Given the description of an element on the screen output the (x, y) to click on. 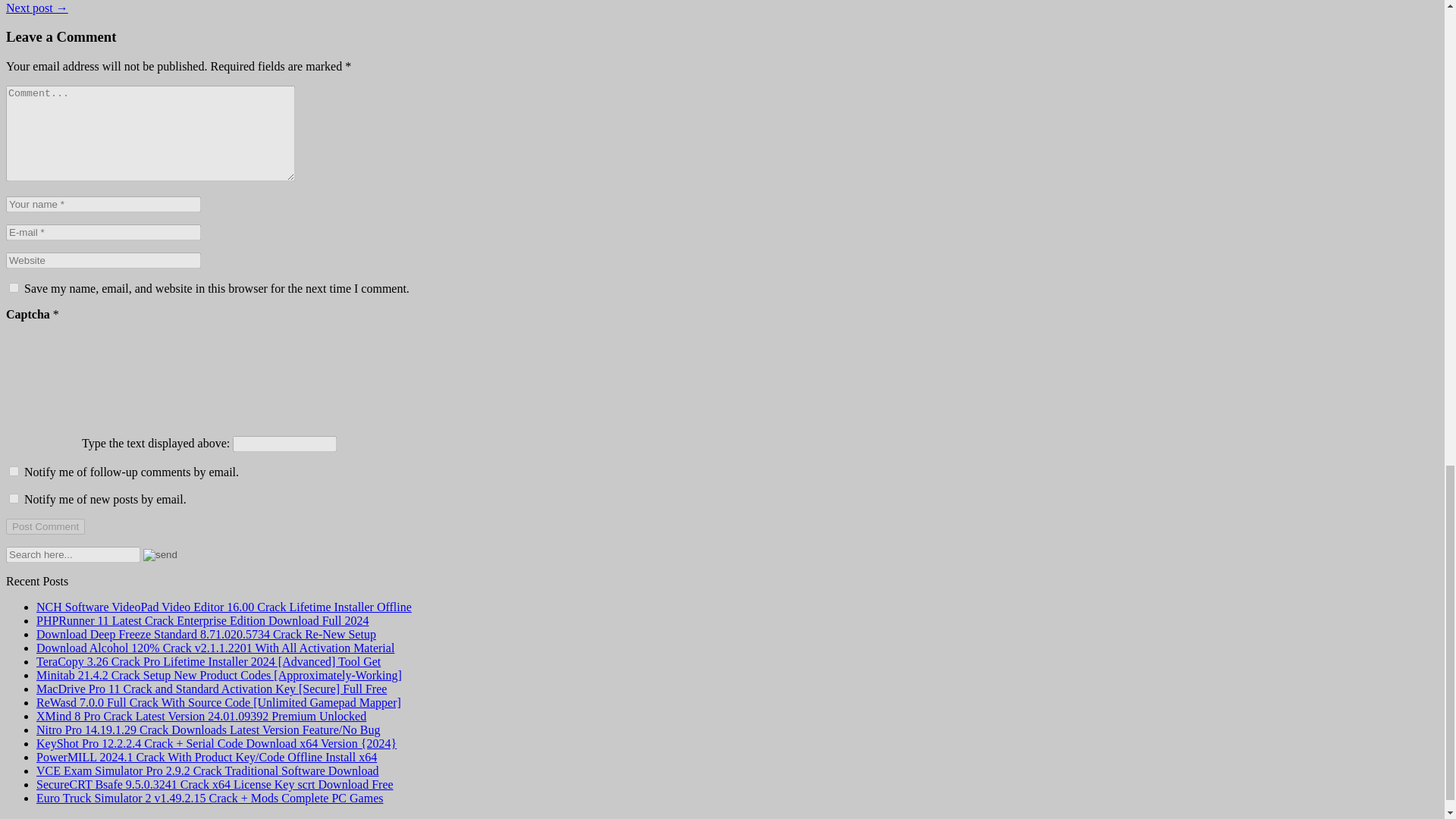
Post Comment (44, 526)
subscribe (13, 470)
yes (13, 287)
Post Comment (44, 526)
subscribe (13, 498)
